Given the description of an element on the screen output the (x, y) to click on. 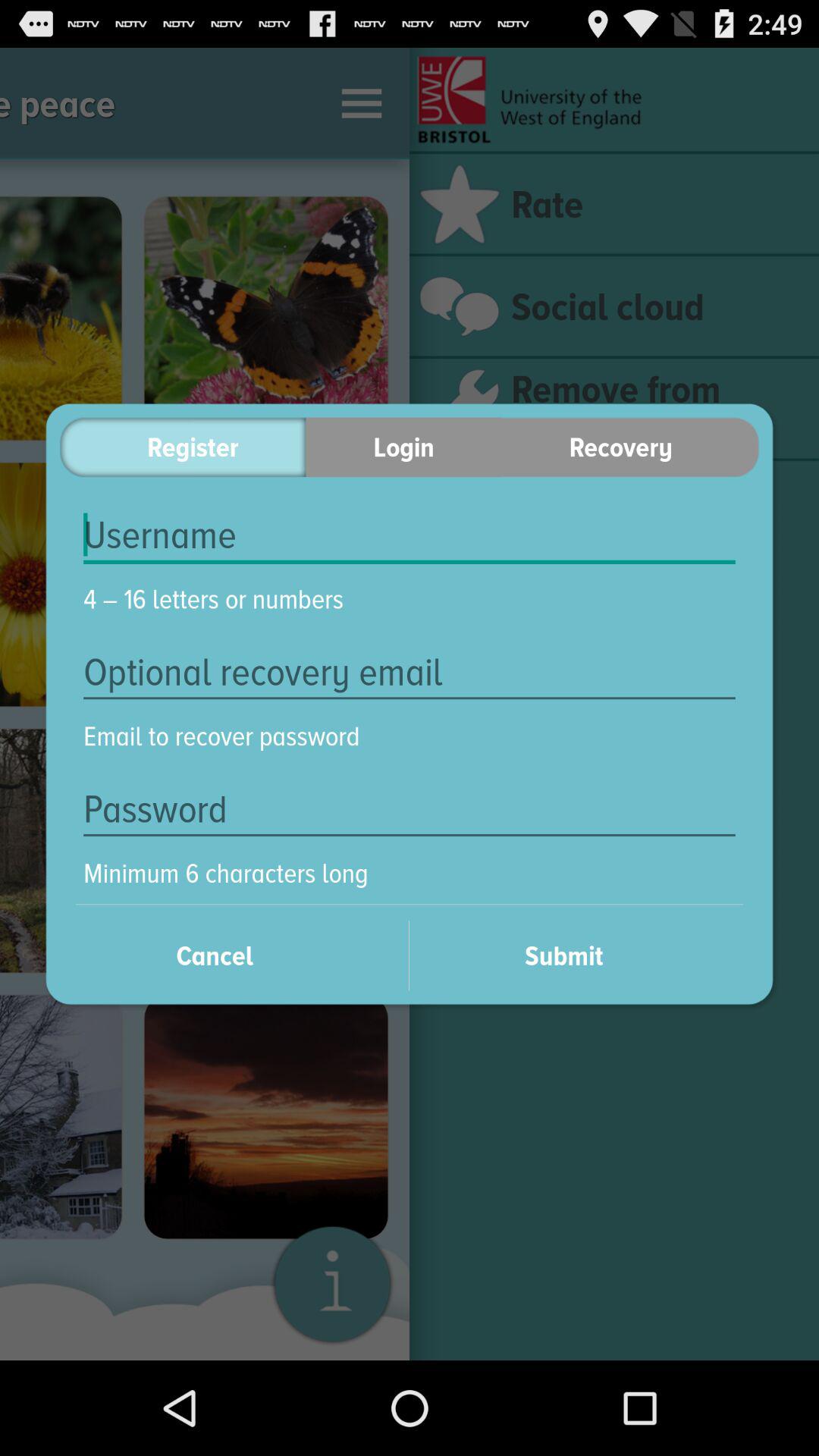
launch login icon (403, 447)
